Given the description of an element on the screen output the (x, y) to click on. 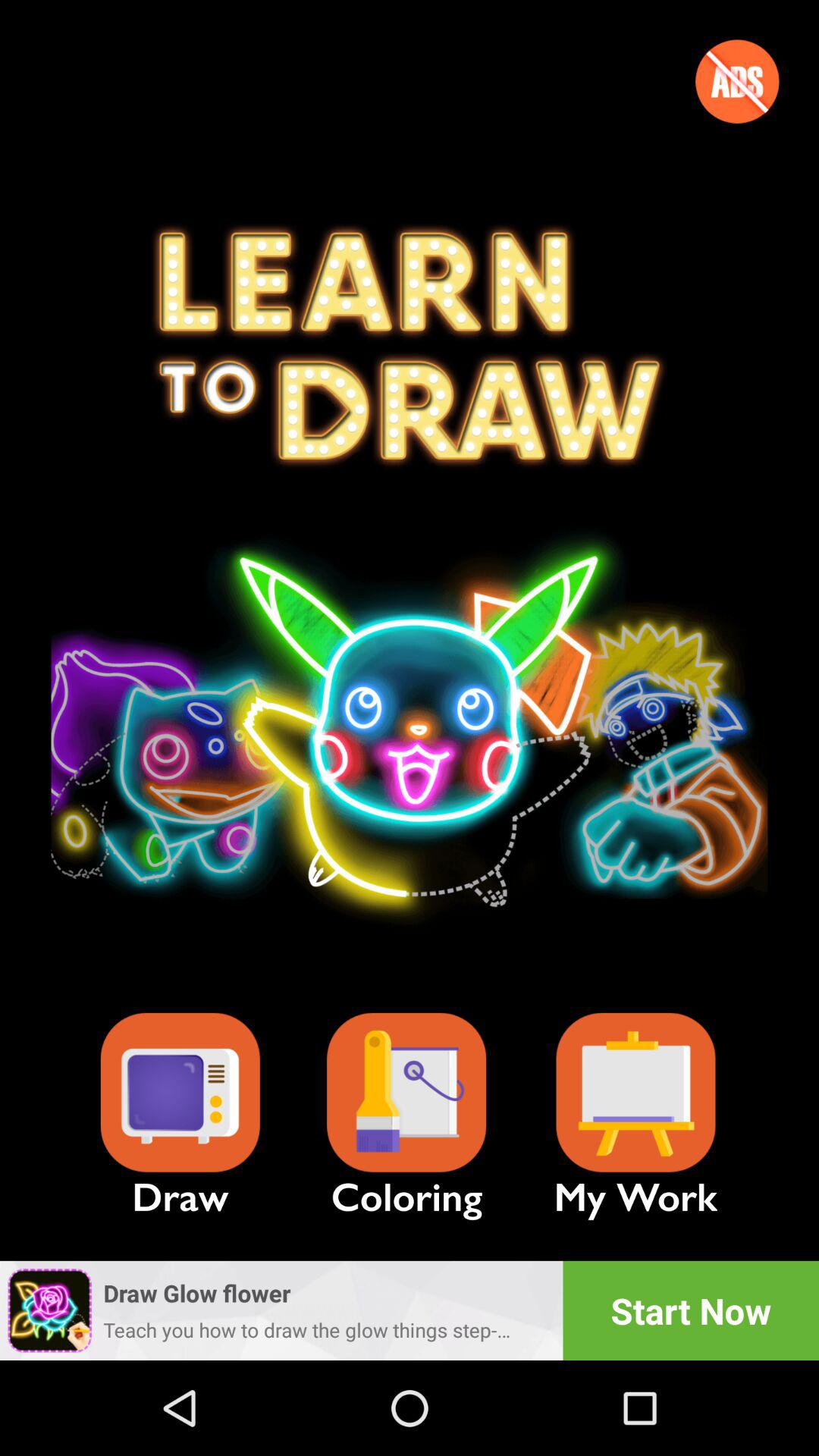
press the item above draw item (179, 1092)
